Given the description of an element on the screen output the (x, y) to click on. 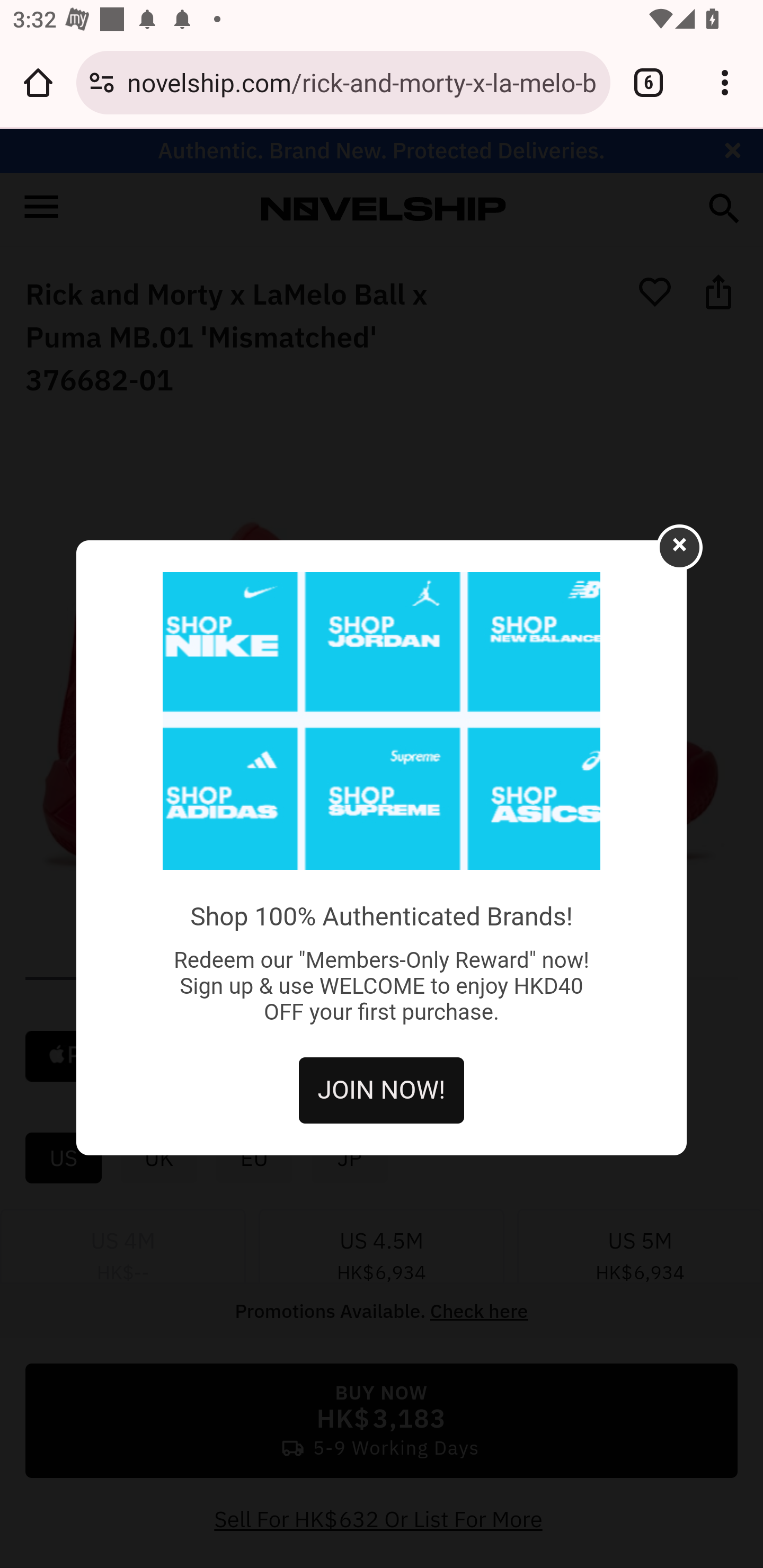
Open the home page (38, 82)
Connection is secure (101, 82)
Switch or close tabs (648, 82)
Customize and control Google Chrome (724, 82)
JOIN NOW! (381, 1090)
